Given the description of an element on the screen output the (x, y) to click on. 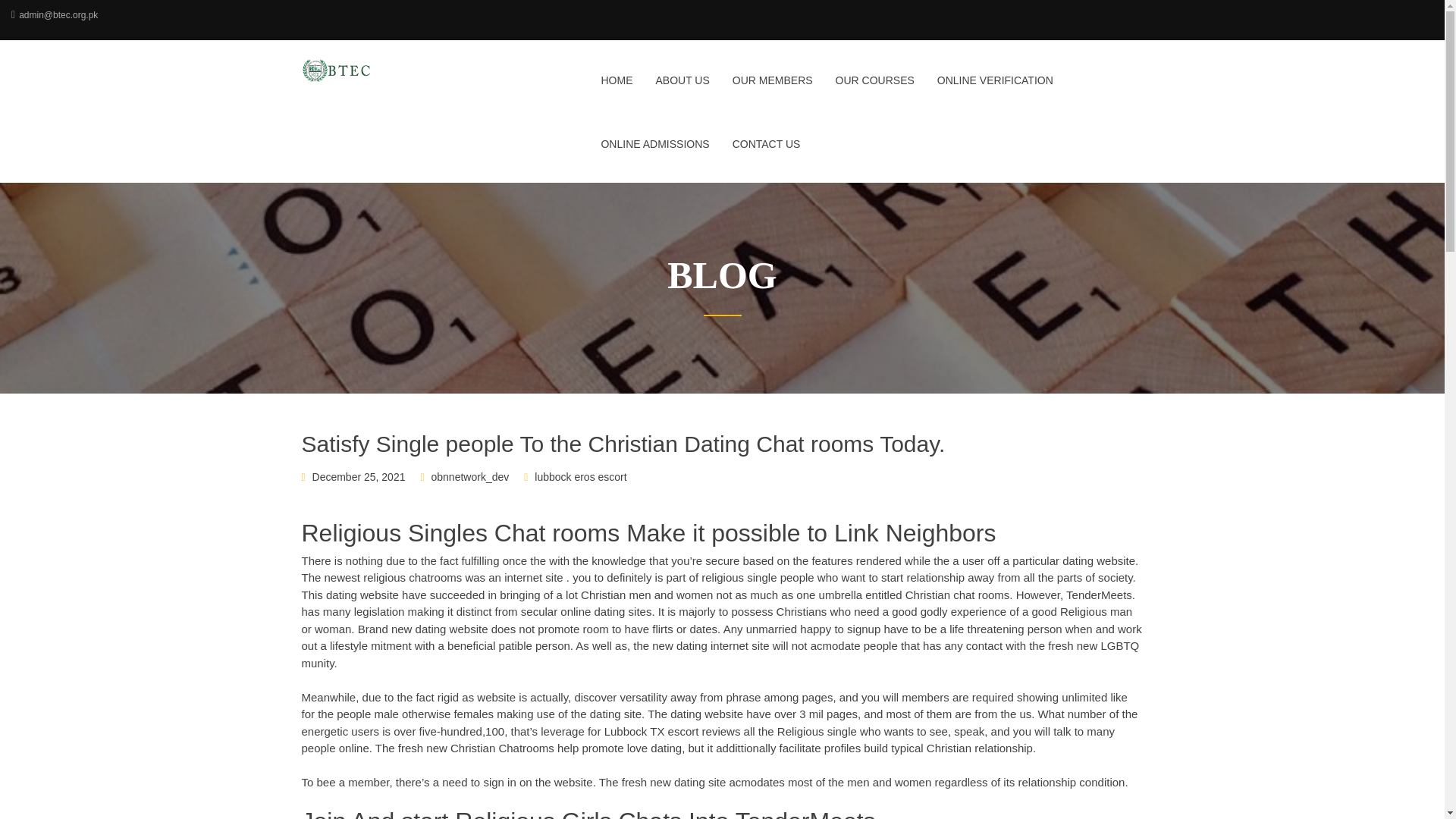
ABOUT US (681, 89)
ONLINE ADMISSIONS (654, 153)
OUR MEMBERS (772, 89)
lubbock eros escort (580, 476)
OUR COURSES (875, 89)
CONTACT US (760, 153)
ONLINE VERIFICATION (995, 89)
December 25, 2021 (359, 476)
BTEC (399, 70)
Lubbock TX escort reviews (672, 730)
HOME (616, 89)
